Given the description of an element on the screen output the (x, y) to click on. 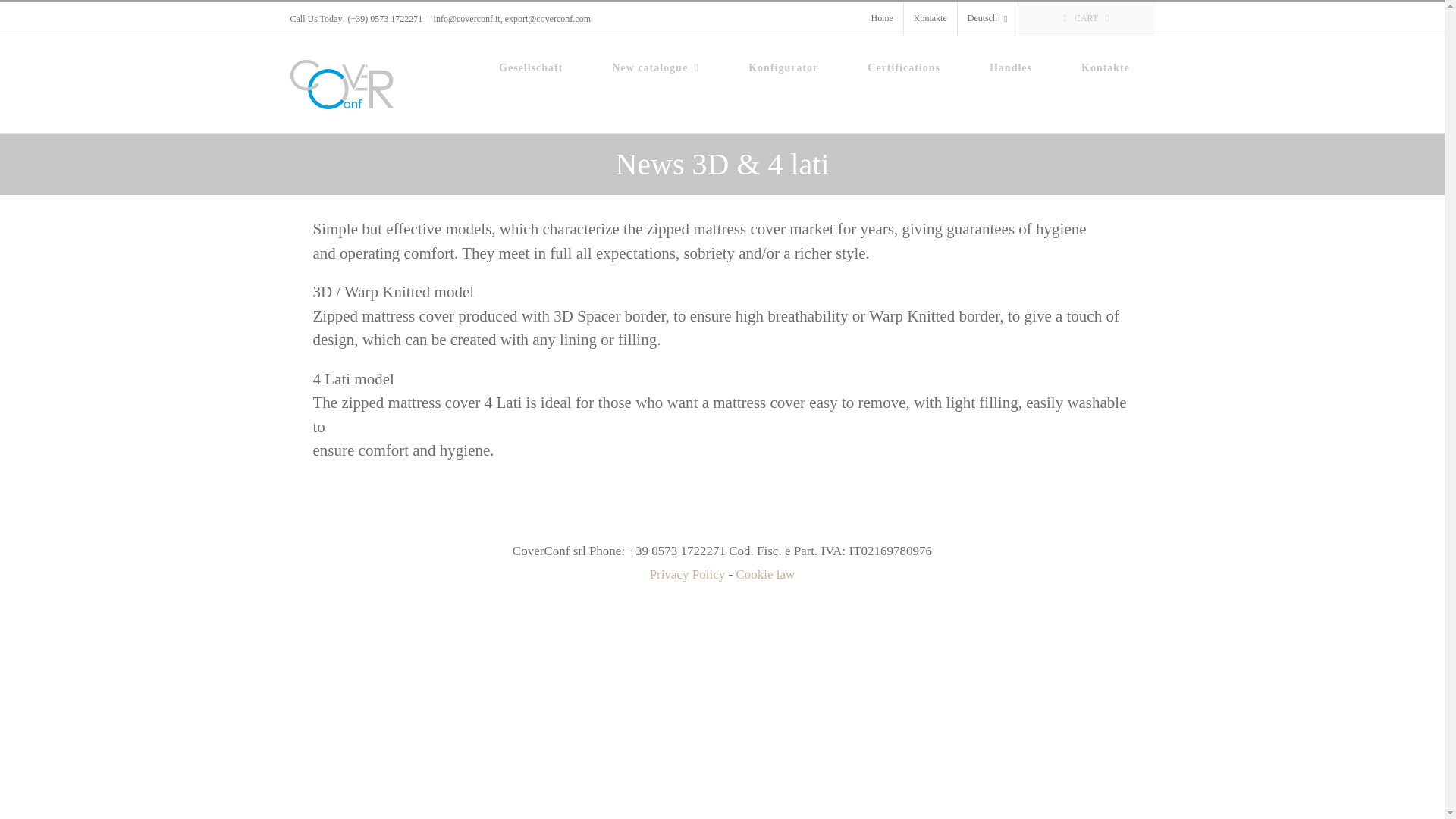
Kontakte (1105, 67)
Konfigurator (783, 67)
CART (1085, 19)
Deutsch (987, 19)
Cookie law (764, 574)
Certifications (904, 67)
Gesellschaft (531, 67)
Home (881, 19)
Kontakte (930, 19)
Privacy Policy (687, 574)
Handles (1010, 67)
New catalogue (655, 67)
